Given the description of an element on the screen output the (x, y) to click on. 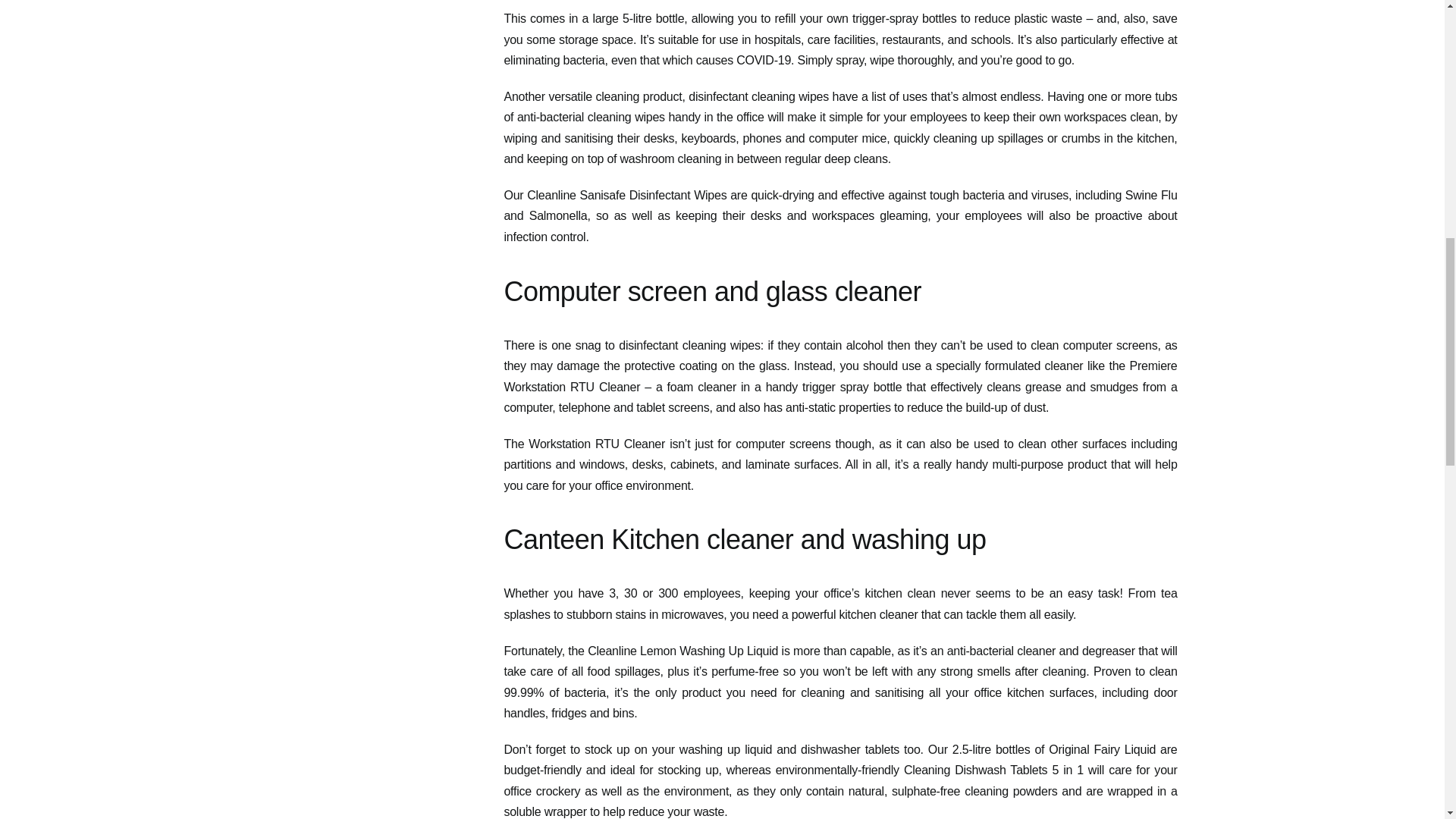
Cleanline Lemon Washing Up Liquid (682, 650)
Original Fairy Liquid (1102, 748)
Premiere Workstation RTU Cleaner (839, 376)
infection control (544, 236)
Cleaning Dishwash Tablets 5 in 1 (993, 769)
Cleanline Sanisafe Disinfectant Wipes (626, 195)
